Given the description of an element on the screen output the (x, y) to click on. 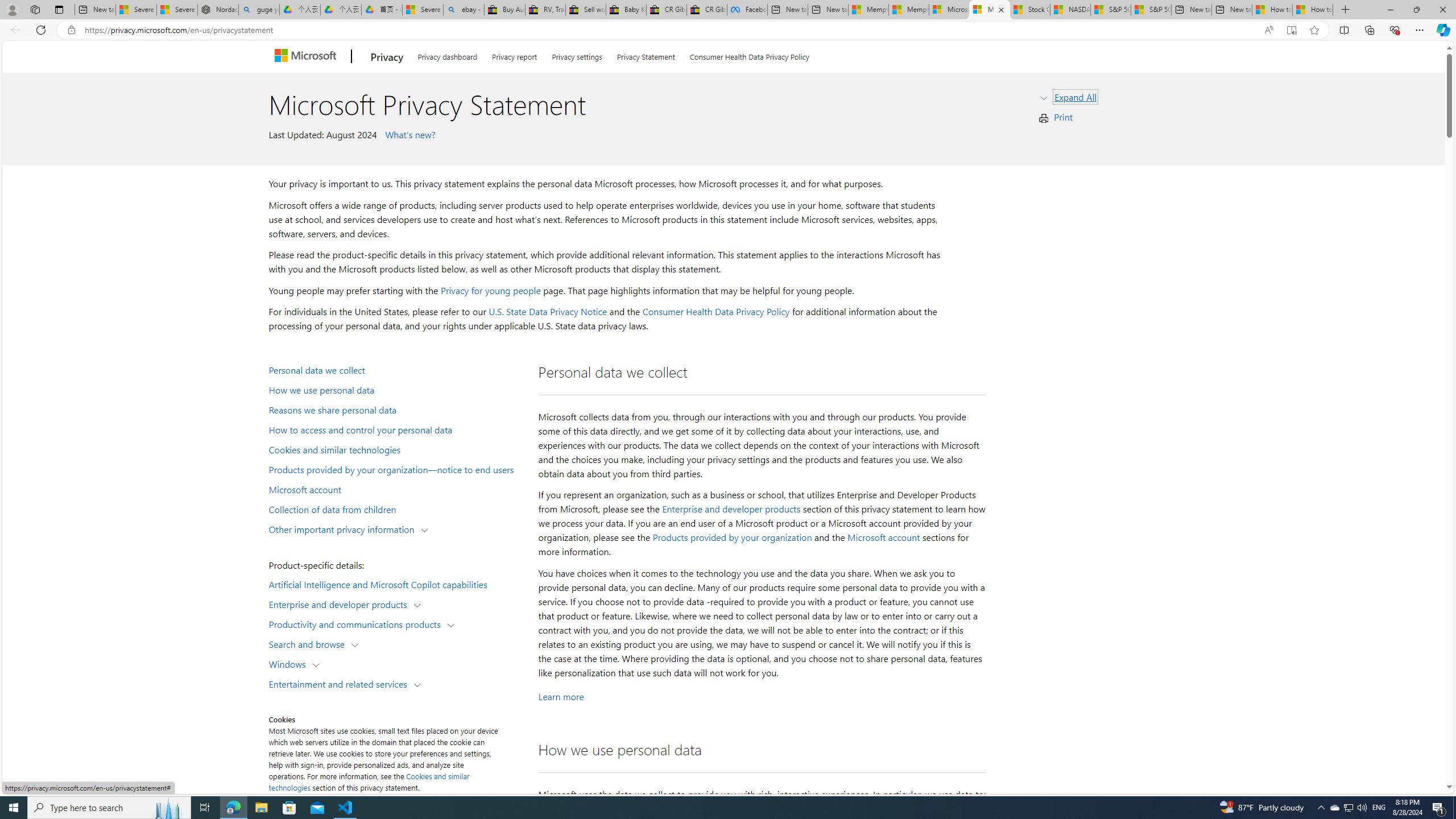
Entertainment and related services (340, 683)
Refresh (40, 29)
Windows (289, 663)
New Tab (1346, 9)
Copilot (Ctrl+Shift+.) (1442, 29)
Microsoft (306, 56)
Close tab (1000, 9)
Artificial Intelligence and Microsoft Copilot capabilities (395, 583)
Learn more about Personal data we collect (560, 696)
Privacy report (514, 54)
Facebook (746, 9)
Collections (1369, 29)
Back (13, 29)
Privacy settings (577, 54)
How to Use a Monitor With Your Closed Laptop (1312, 9)
